Given the description of an element on the screen output the (x, y) to click on. 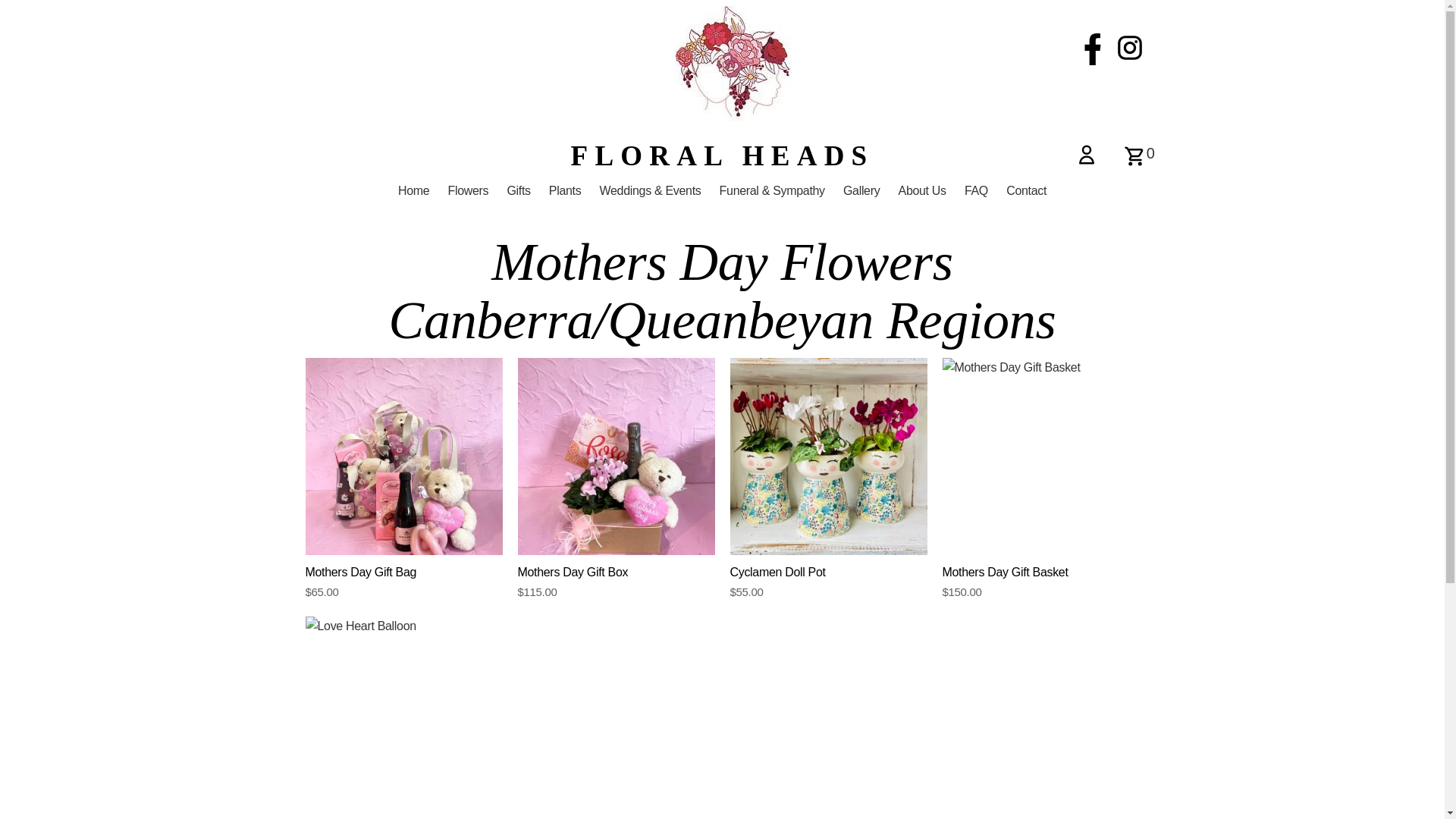
Weddings & Events Element type: text (650, 191)
Mothers Day Gift Bag Element type: hover (403, 456)
Gallery Element type: text (861, 191)
Mothers Day Gift Box Element type: hover (615, 456)
Love Heart Balloon Element type: hover (403, 714)
0 Element type: text (1139, 159)
FAQ Element type: text (976, 191)
Mothers Day Gift Basket  Element type: hover (1040, 456)
Flowers Element type: text (467, 191)
Gifts Element type: text (517, 191)
facebook [#176] Created with Sketch. Element type: text (1092, 60)
About Us Element type: text (922, 191)
Cyclamen Doll Pot Element type: hover (827, 456)
Contact Element type: text (1026, 191)
Funeral & Sympathy Element type: text (772, 191)
Plants Element type: text (565, 191)
Home Element type: text (413, 191)
